Given the description of an element on the screen output the (x, y) to click on. 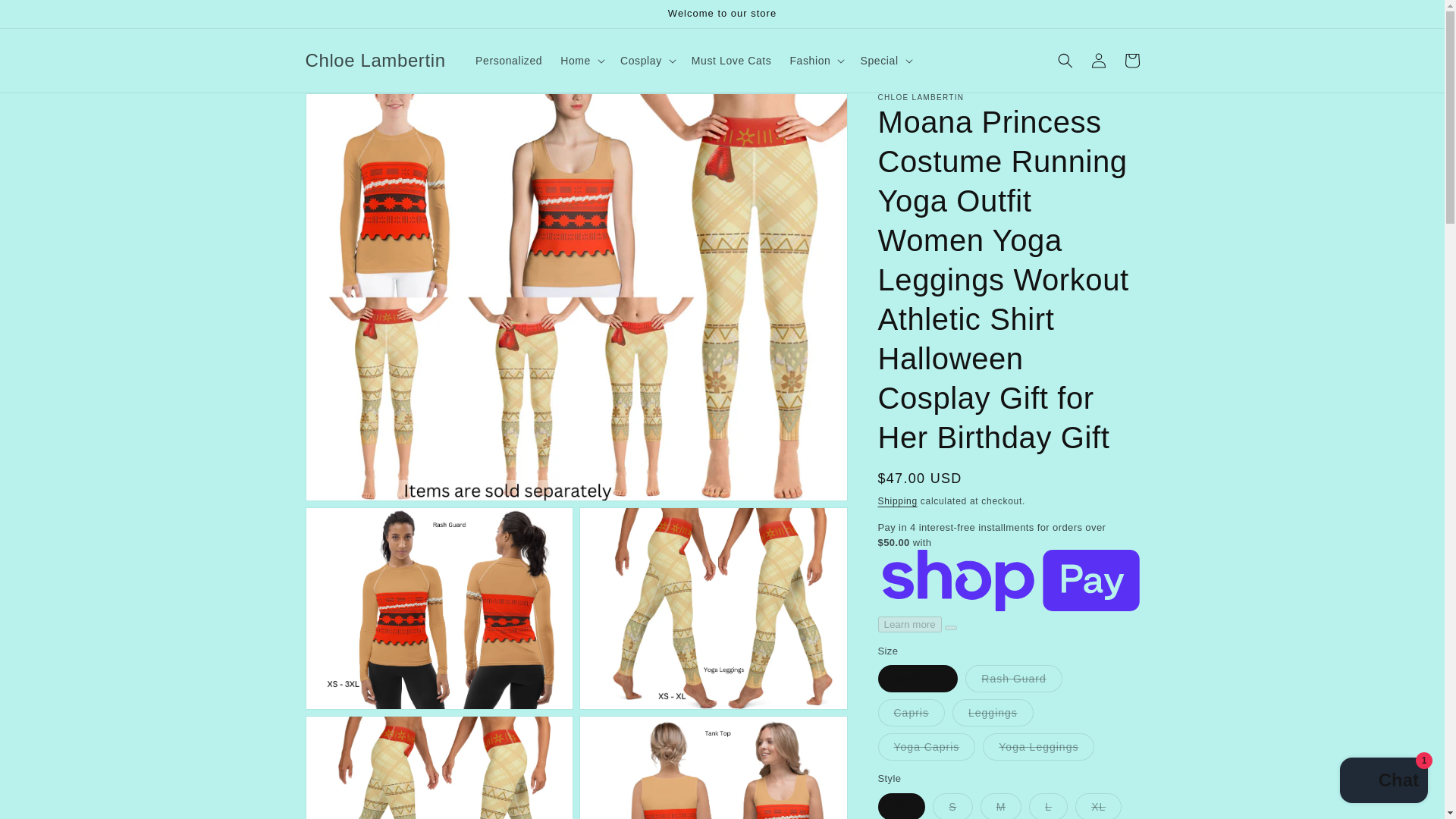
Shopify online store chat (1383, 781)
Chloe Lambertin (375, 60)
Skip to content (45, 17)
Personalized (508, 60)
